Given the description of an element on the screen output the (x, y) to click on. 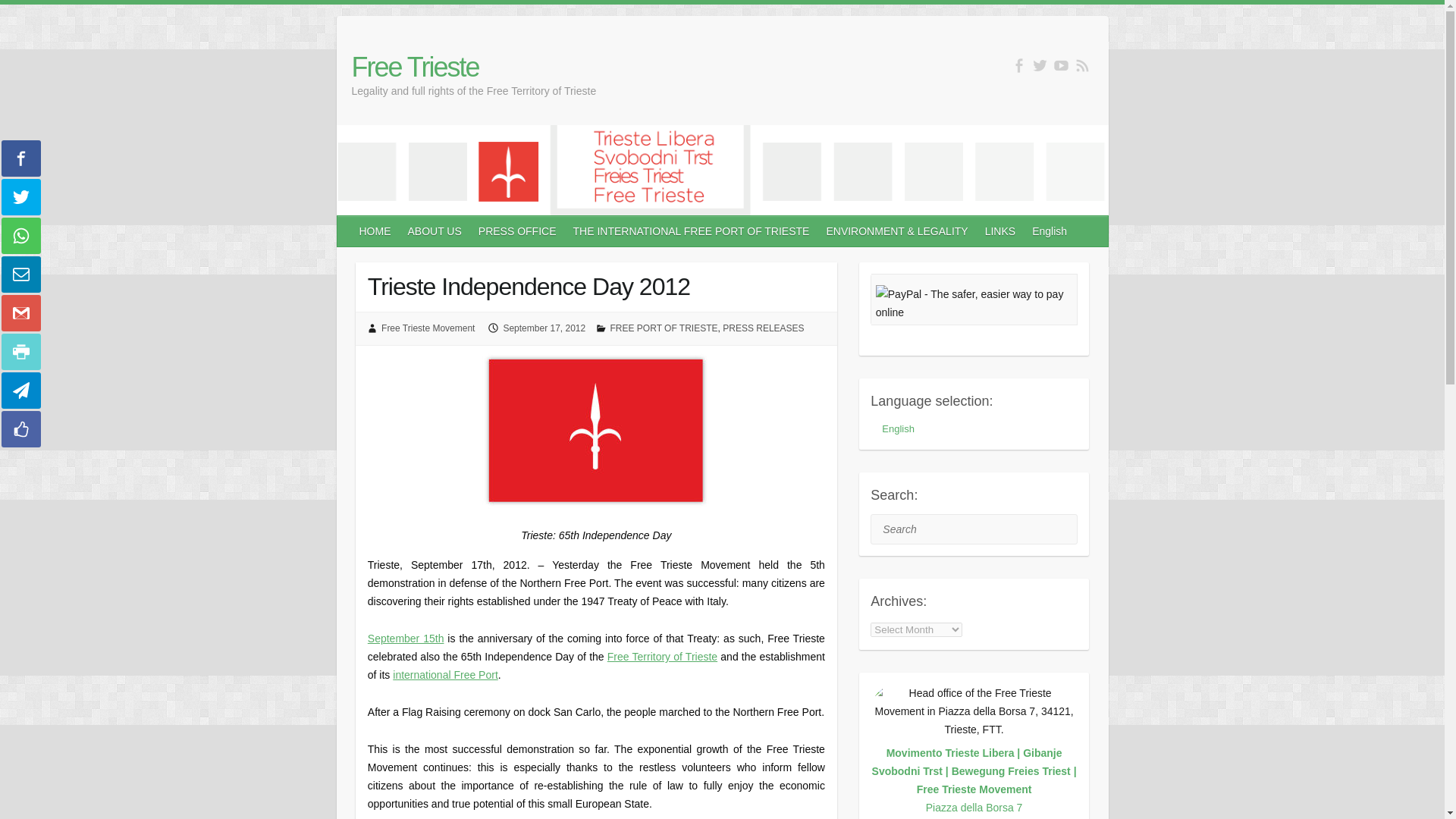
English (1050, 231)
Free Trieste (474, 67)
Free Trieste on Facebook (1019, 65)
Print via PrintFriendly (20, 351)
Share on Facebook (20, 158)
Send by email (20, 274)
ABOUT THE FREE TRIESTE MOVEMENT (435, 231)
Free Trieste on RSS (1082, 65)
OUR EMAIL, LINKS AND MORE! (1000, 231)
Free Trieste on YouTube (1061, 65)
